Given the description of an element on the screen output the (x, y) to click on. 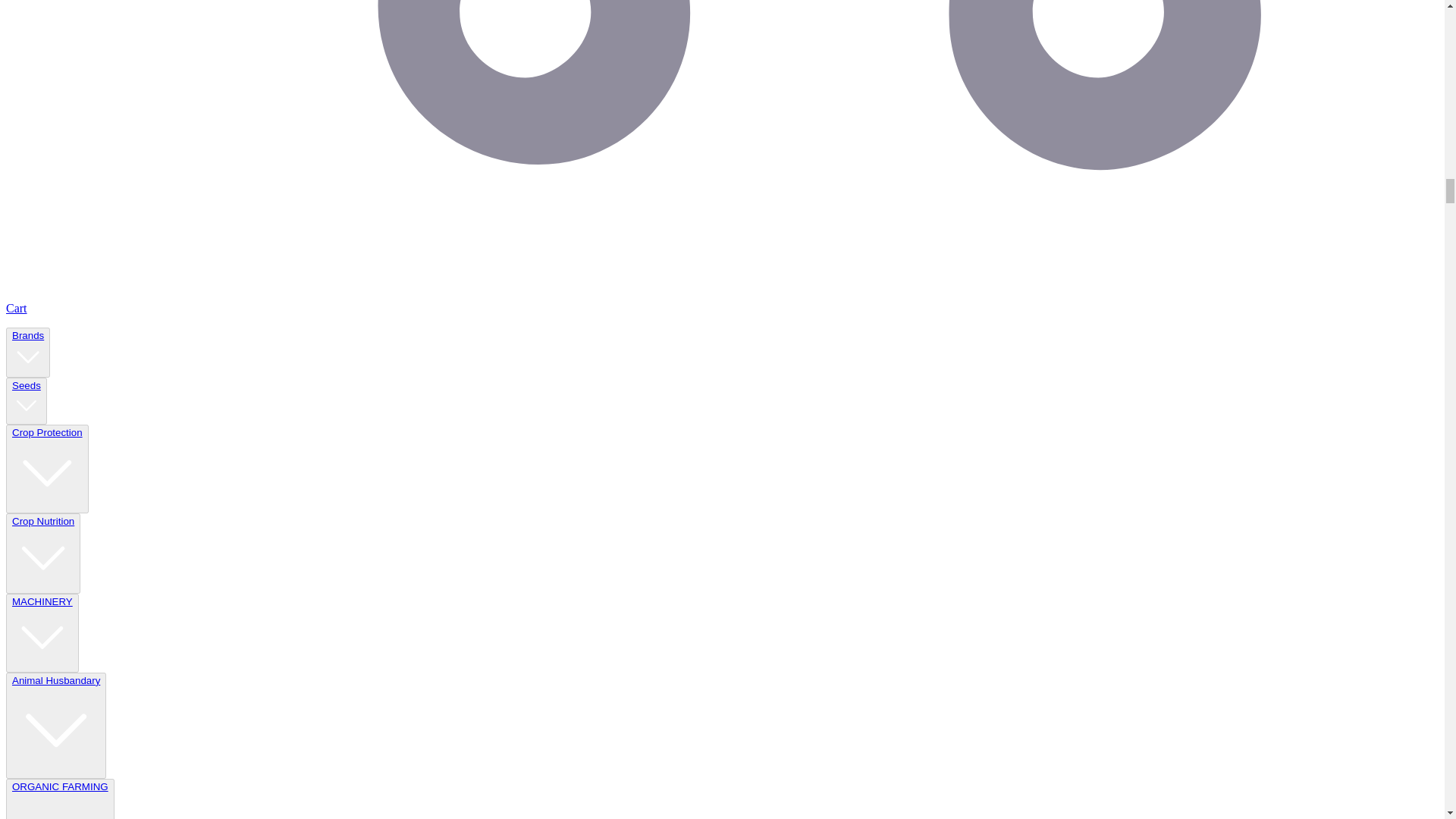
Crop Protection (46, 469)
Animal Husbandary (55, 725)
ORGANIC FARMING (60, 798)
ORGANIC FARMING (59, 800)
MACHINERY (41, 632)
Crop Nutrition (42, 553)
